Given the description of an element on the screen output the (x, y) to click on. 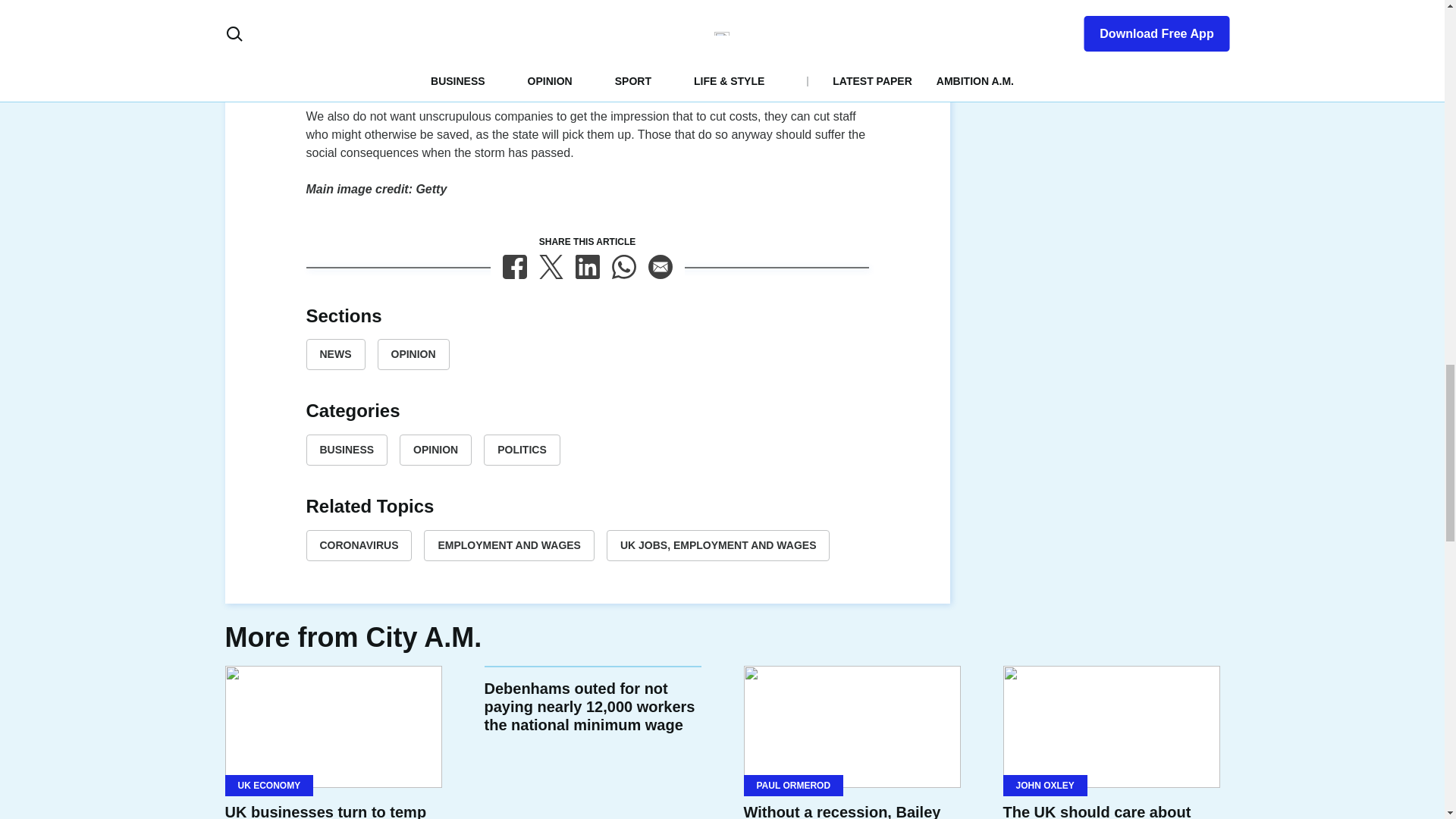
X (550, 266)
Facebook (513, 266)
WhatsApp (622, 266)
LinkedIn (586, 266)
Email (659, 266)
